Given the description of an element on the screen output the (x, y) to click on. 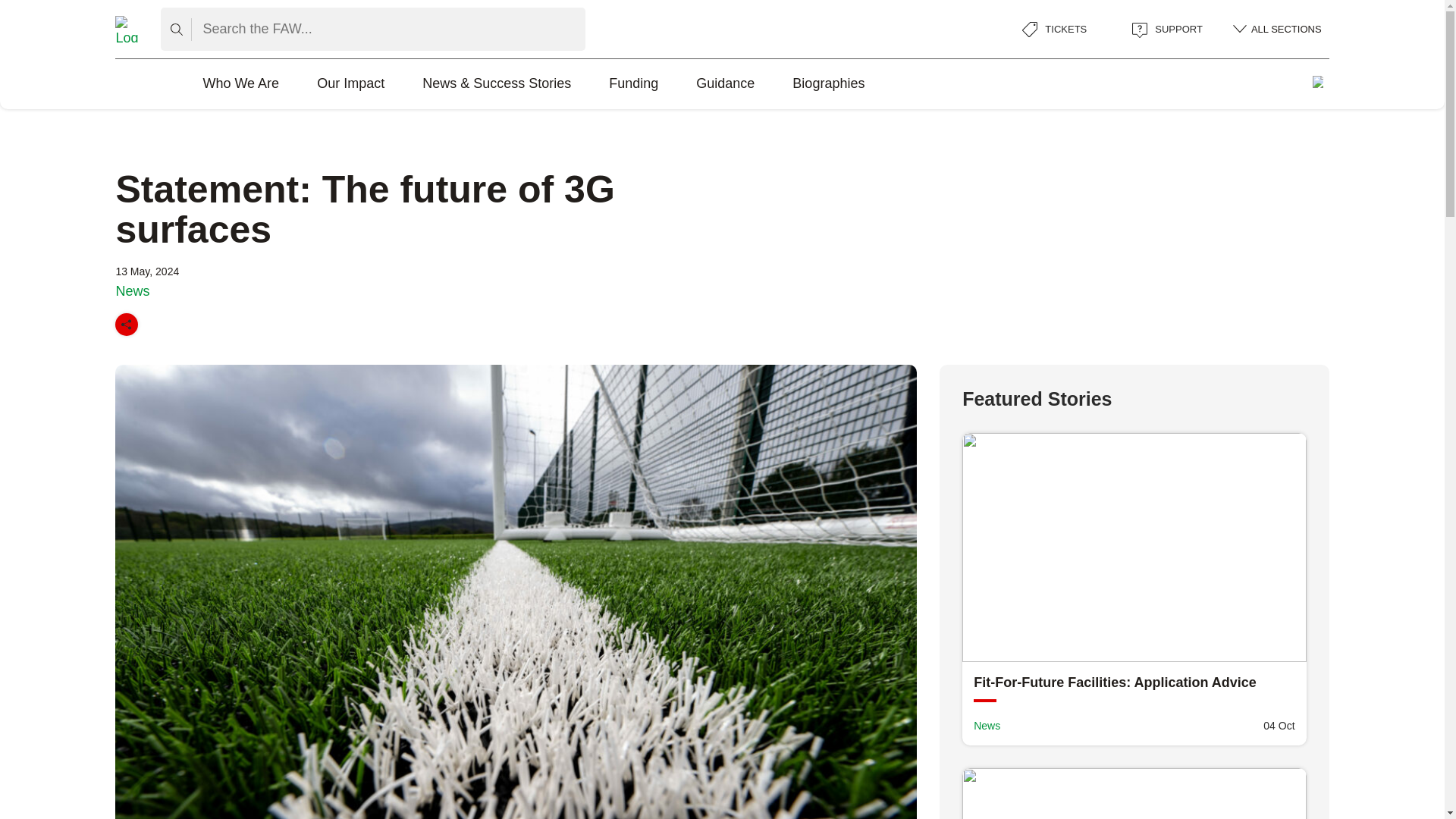
ALL SECTIONS (1277, 29)
SUPPORT (1167, 29)
TICKETS (1054, 28)
